Given the description of an element on the screen output the (x, y) to click on. 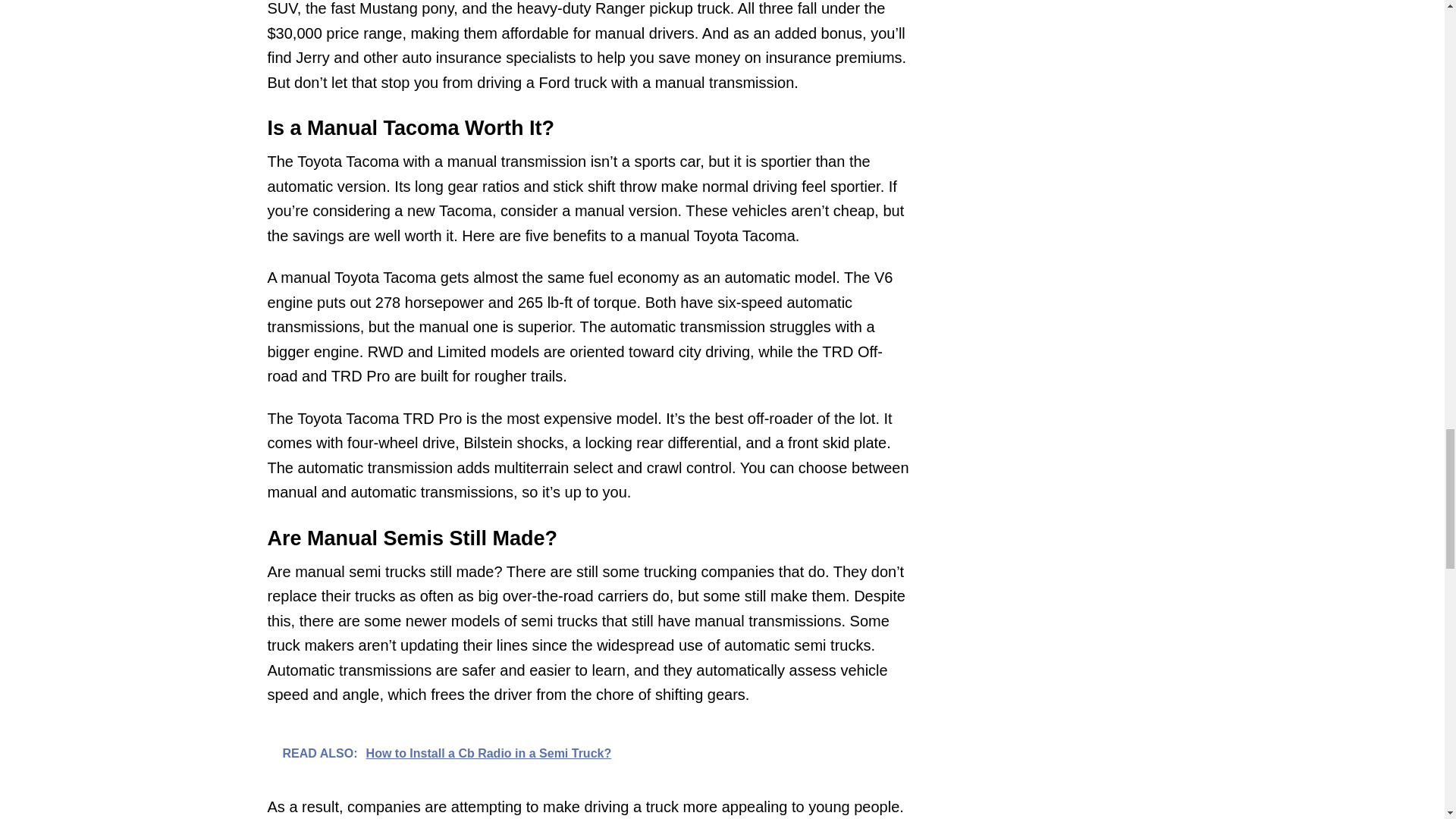
READ ALSO:  How to Install a Cb Radio in a Semi Truck? (588, 752)
